Given the description of an element on the screen output the (x, y) to click on. 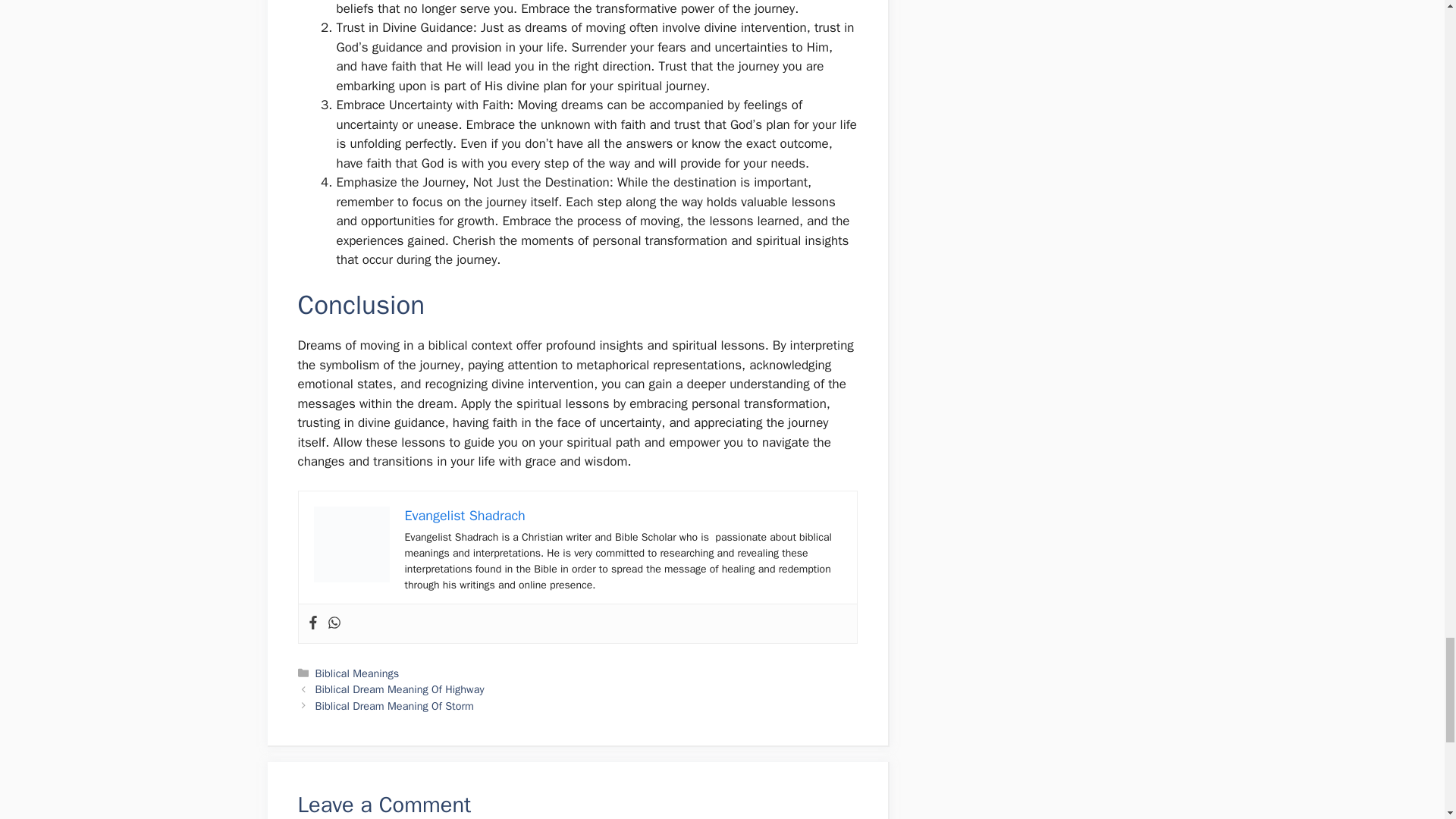
Biblical Dream Meaning Of Highway (399, 689)
Biblical Dream Meaning Of Storm (394, 705)
Evangelist Shadrach (464, 515)
Biblical Meanings (356, 673)
